Given the description of an element on the screen output the (x, y) to click on. 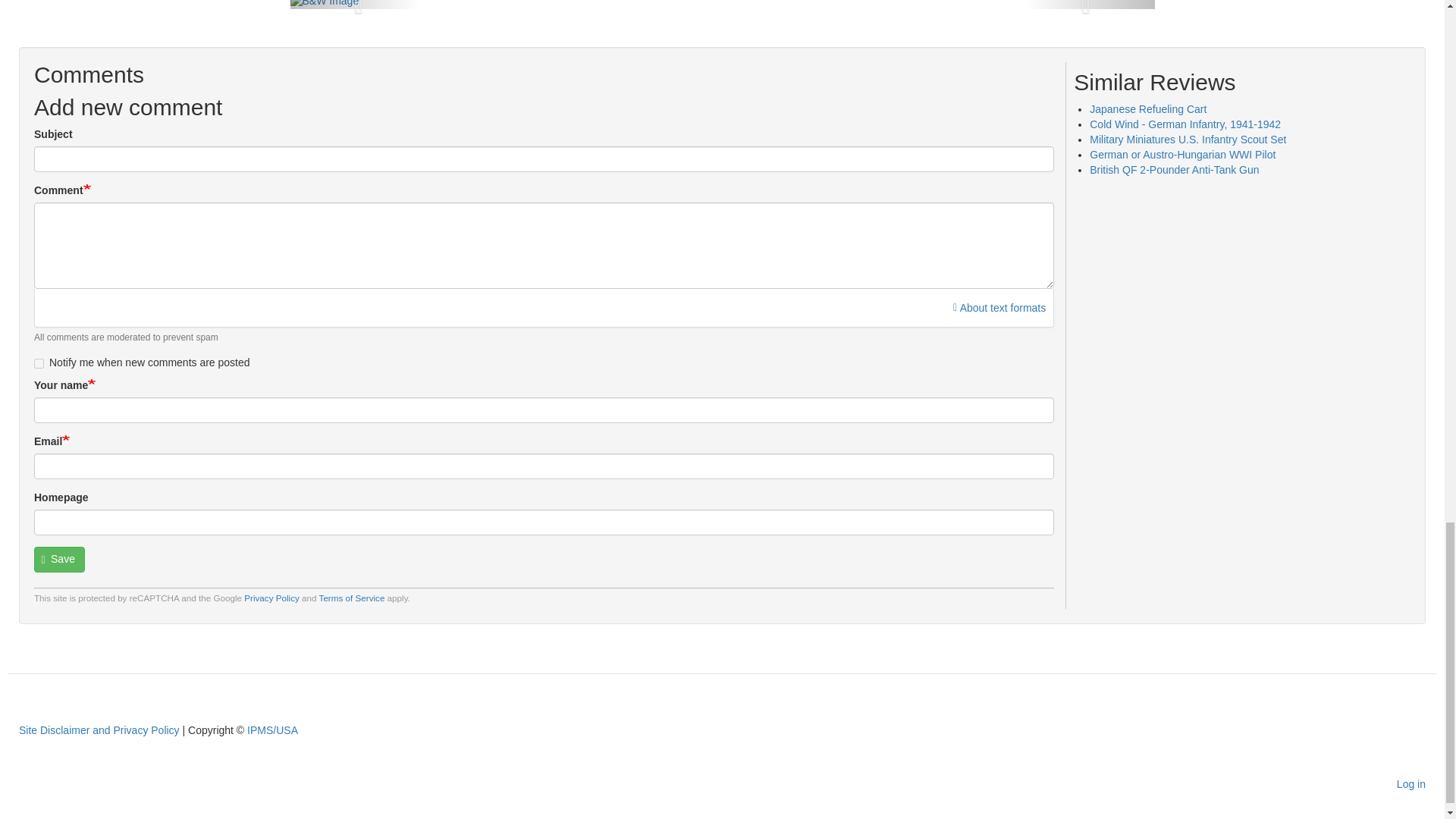
About text formats (999, 307)
Previous (354, 4)
1 (38, 363)
Next (1089, 4)
Save (58, 559)
